Given the description of an element on the screen output the (x, y) to click on. 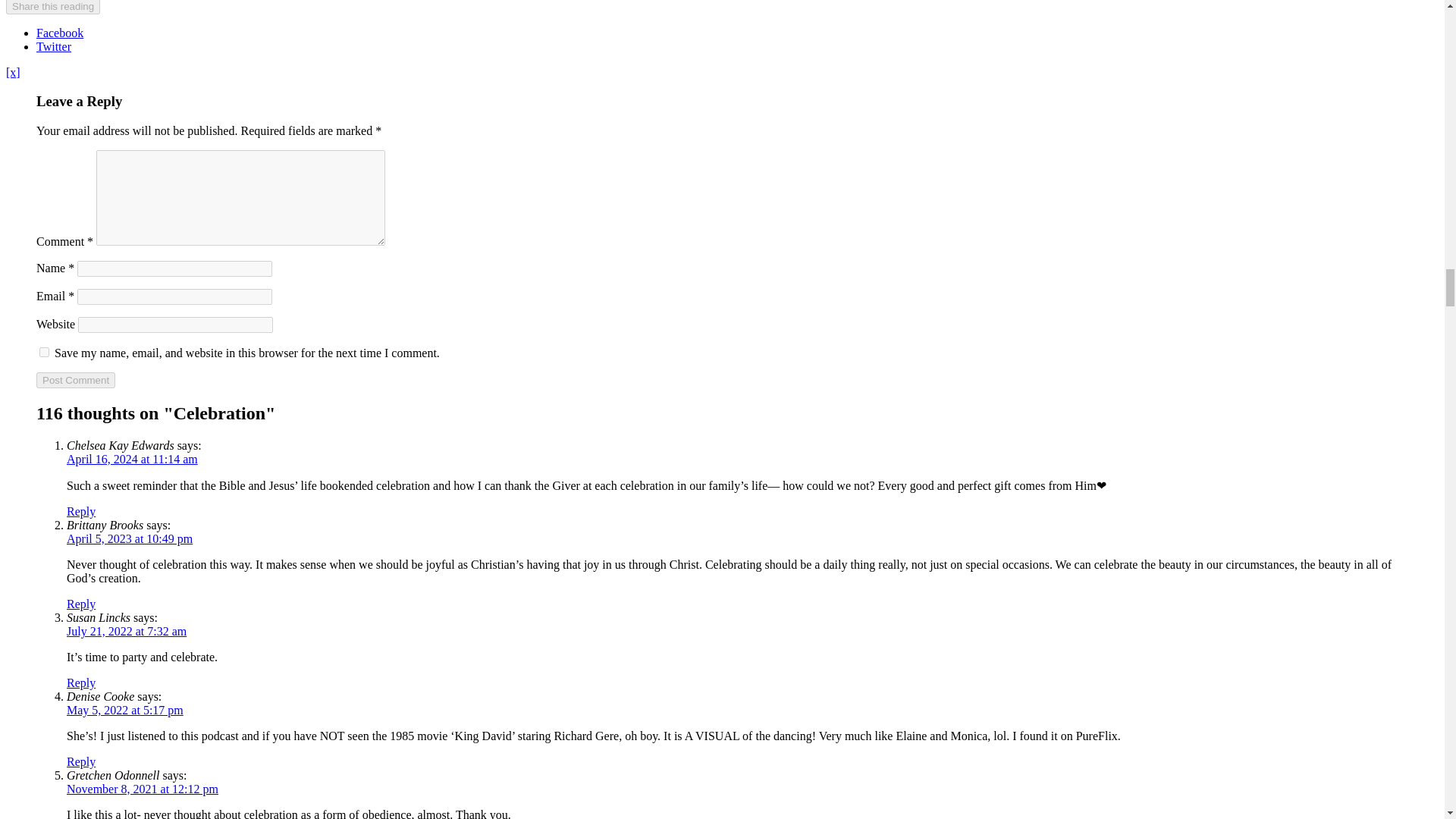
Share this reading (52, 7)
yes (44, 352)
Post Comment (75, 380)
